Given the description of an element on the screen output the (x, y) to click on. 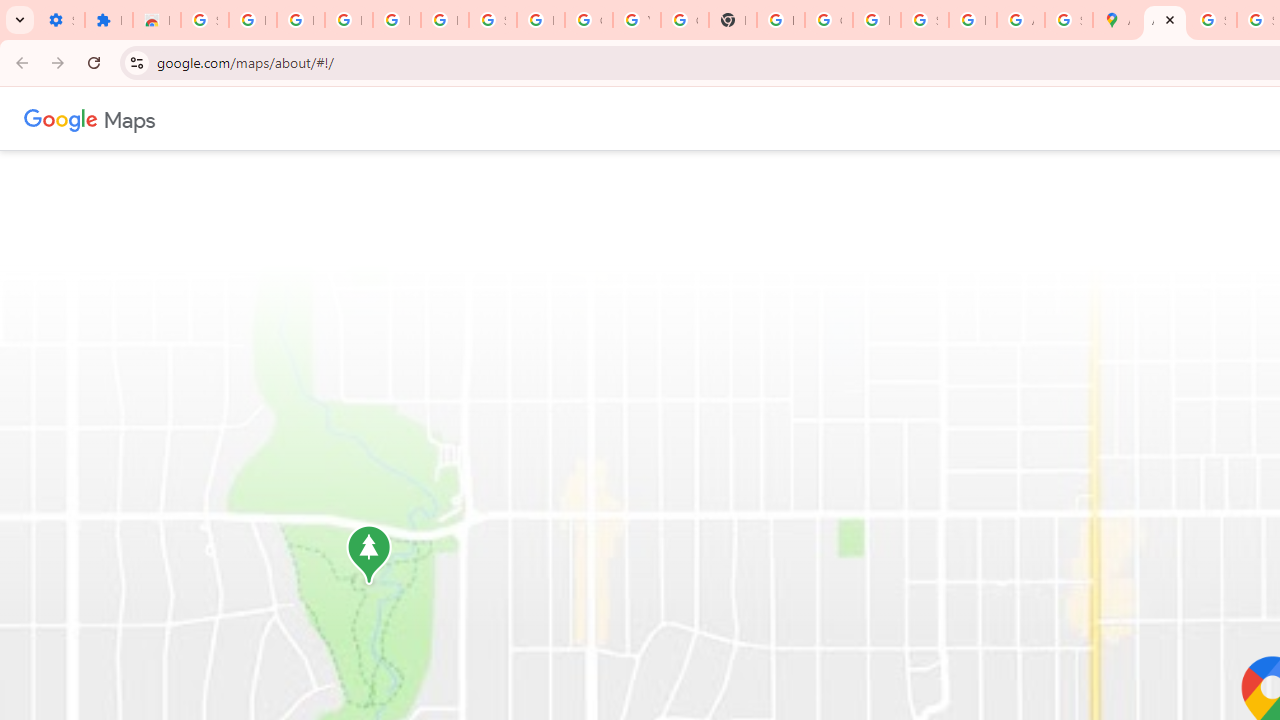
Settings - On startup (60, 20)
Sign in - Google Accounts (1212, 20)
Maps (129, 118)
Delete photos & videos - Computer - Google Photos Help (348, 20)
Sign in - Google Accounts (492, 20)
Sign in - Google Accounts (204, 20)
Reviews: Helix Fruit Jump Arcade Game (156, 20)
